Given the description of an element on the screen output the (x, y) to click on. 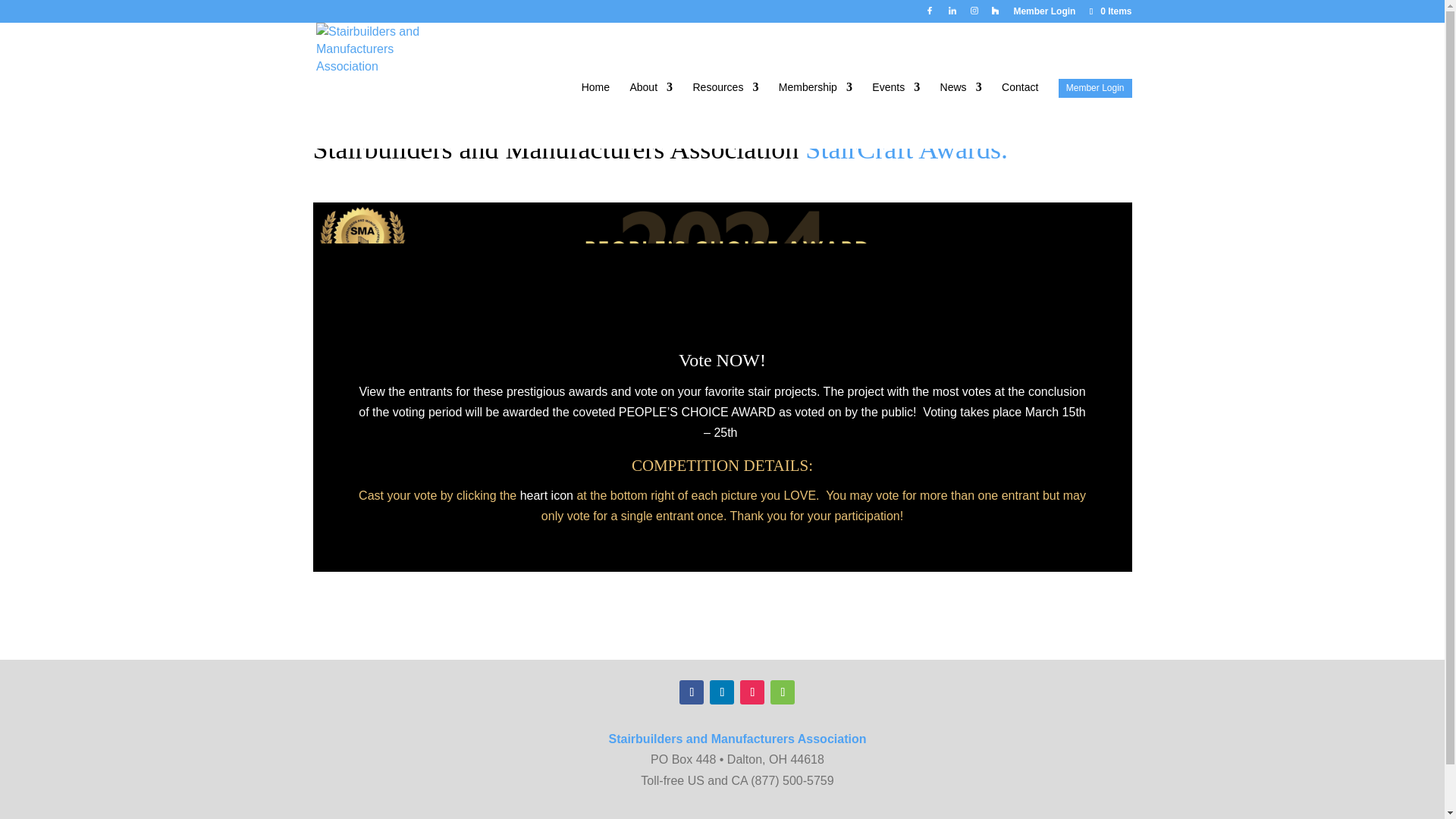
0 Items (1108, 10)
Member Login (1044, 14)
Follow on Instagram (751, 692)
Membership (814, 114)
Resources (725, 114)
Follow on houzz (782, 692)
Follow on LinkedIn (721, 692)
Follow on Facebook (691, 692)
2024 Peoples Choice Award (722, 249)
